Given the description of an element on the screen output the (x, y) to click on. 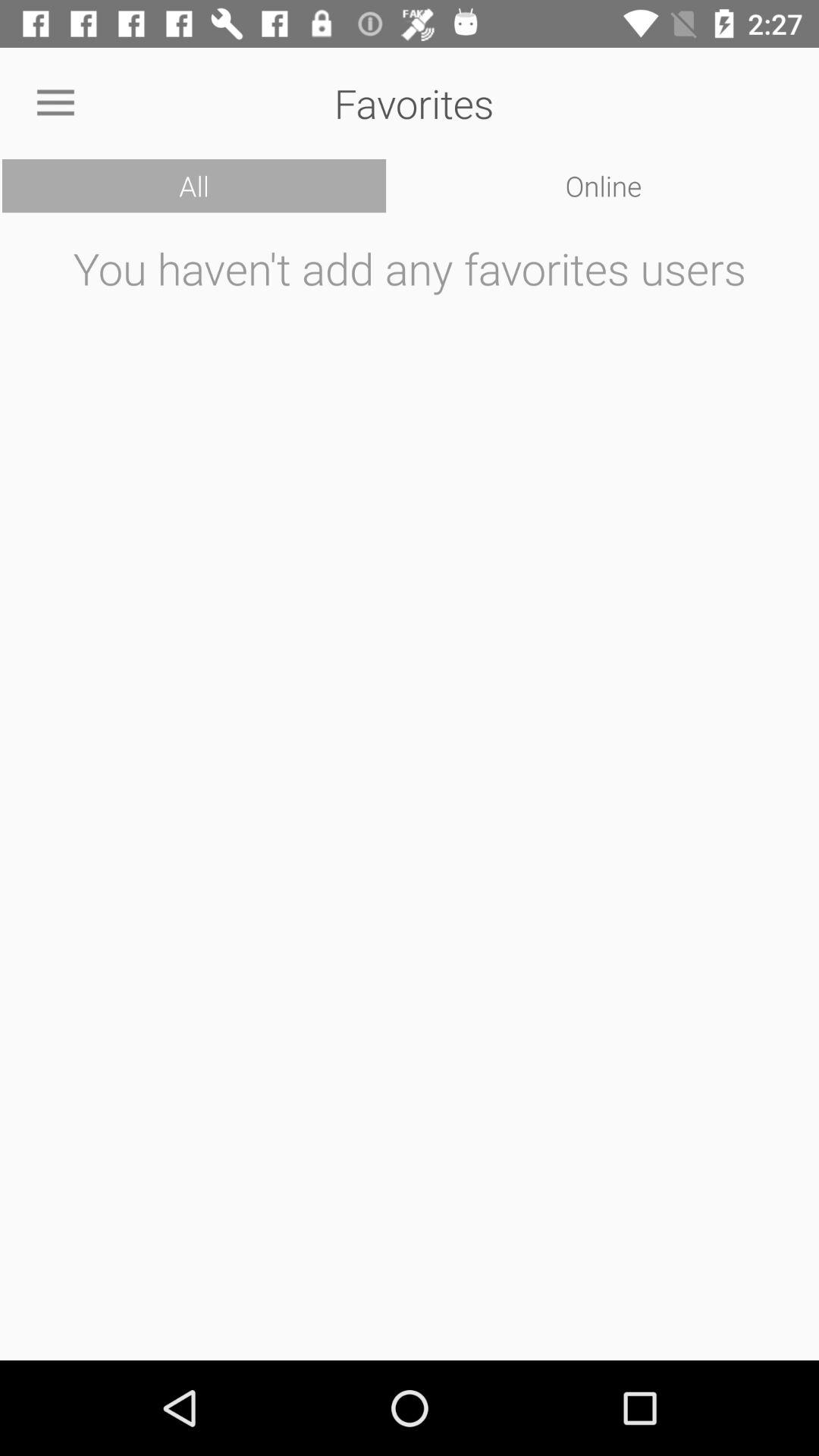
launch icon to the left of the favorites icon (55, 103)
